Given the description of an element on the screen output the (x, y) to click on. 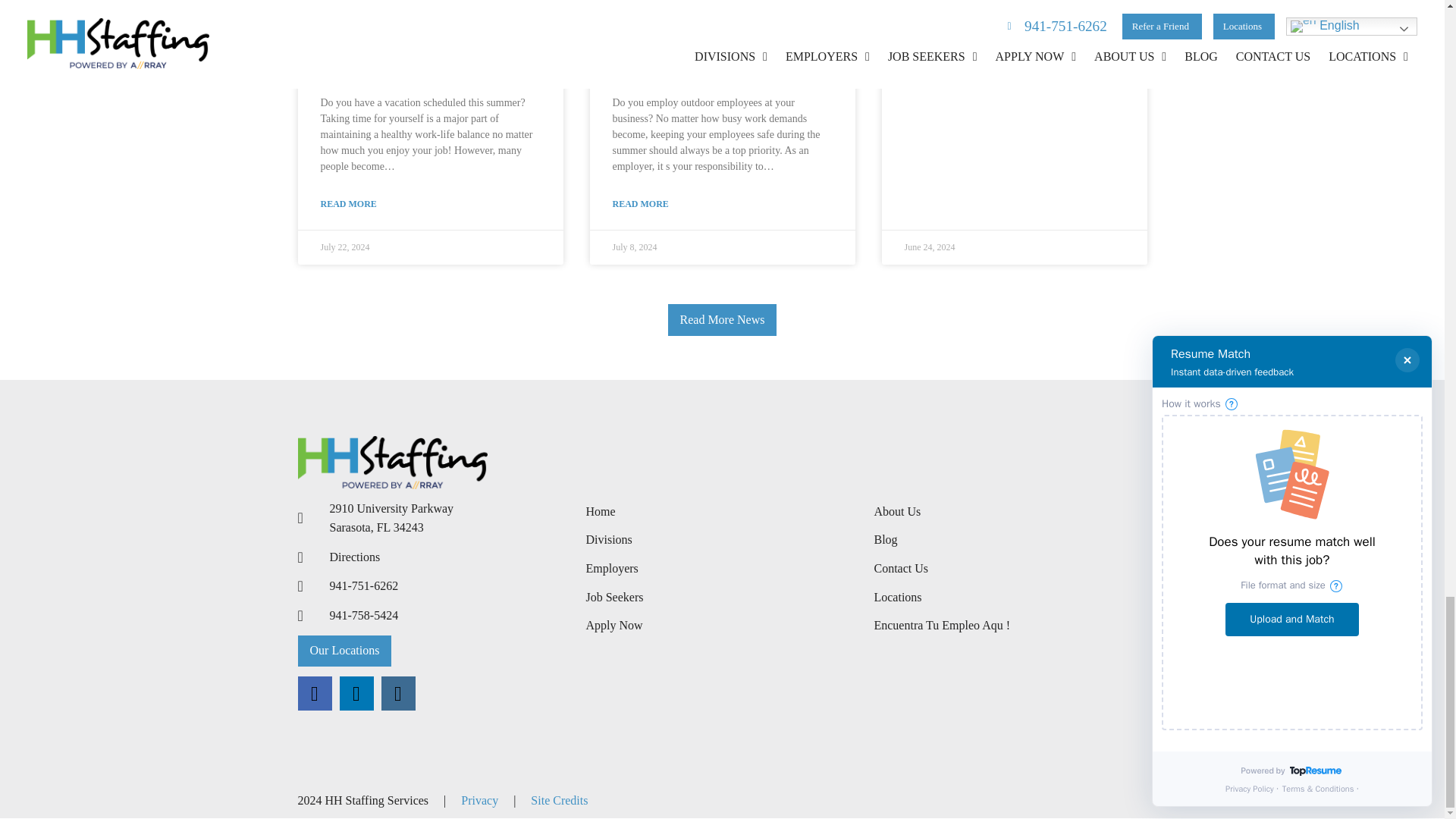
Connect with HH Staffing Services on LinkedIn (356, 693)
Follow HH Staffing Services on Facebook (314, 693)
Follow HH Staffing Services on Instagram (397, 693)
